Given the description of an element on the screen output the (x, y) to click on. 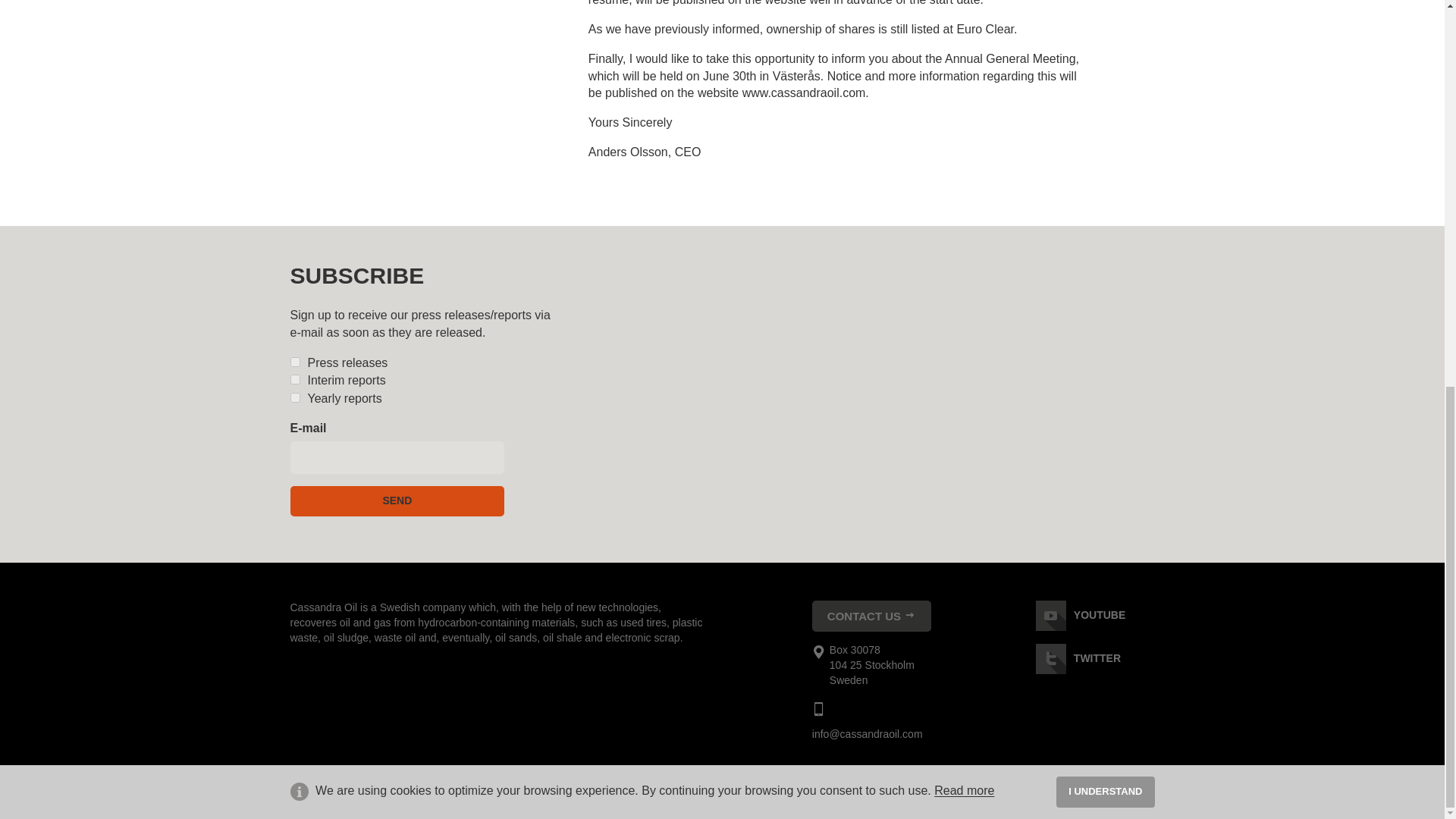
rdv (294, 397)
Send (396, 501)
kmk,rpt (294, 379)
prm (294, 361)
